Given the description of an element on the screen output the (x, y) to click on. 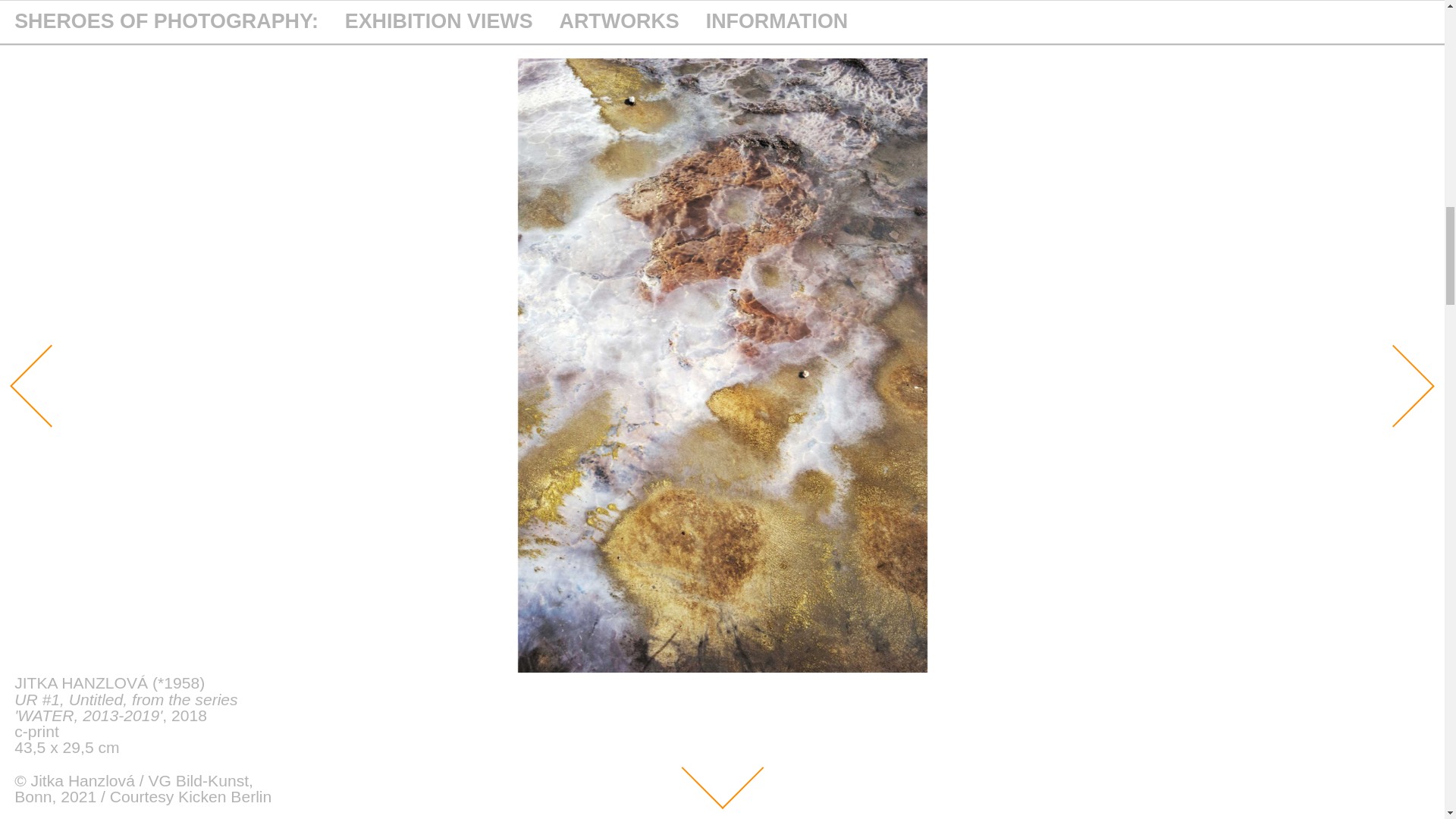
Previous (39, 373)
Next (1381, 373)
